Given the description of an element on the screen output the (x, y) to click on. 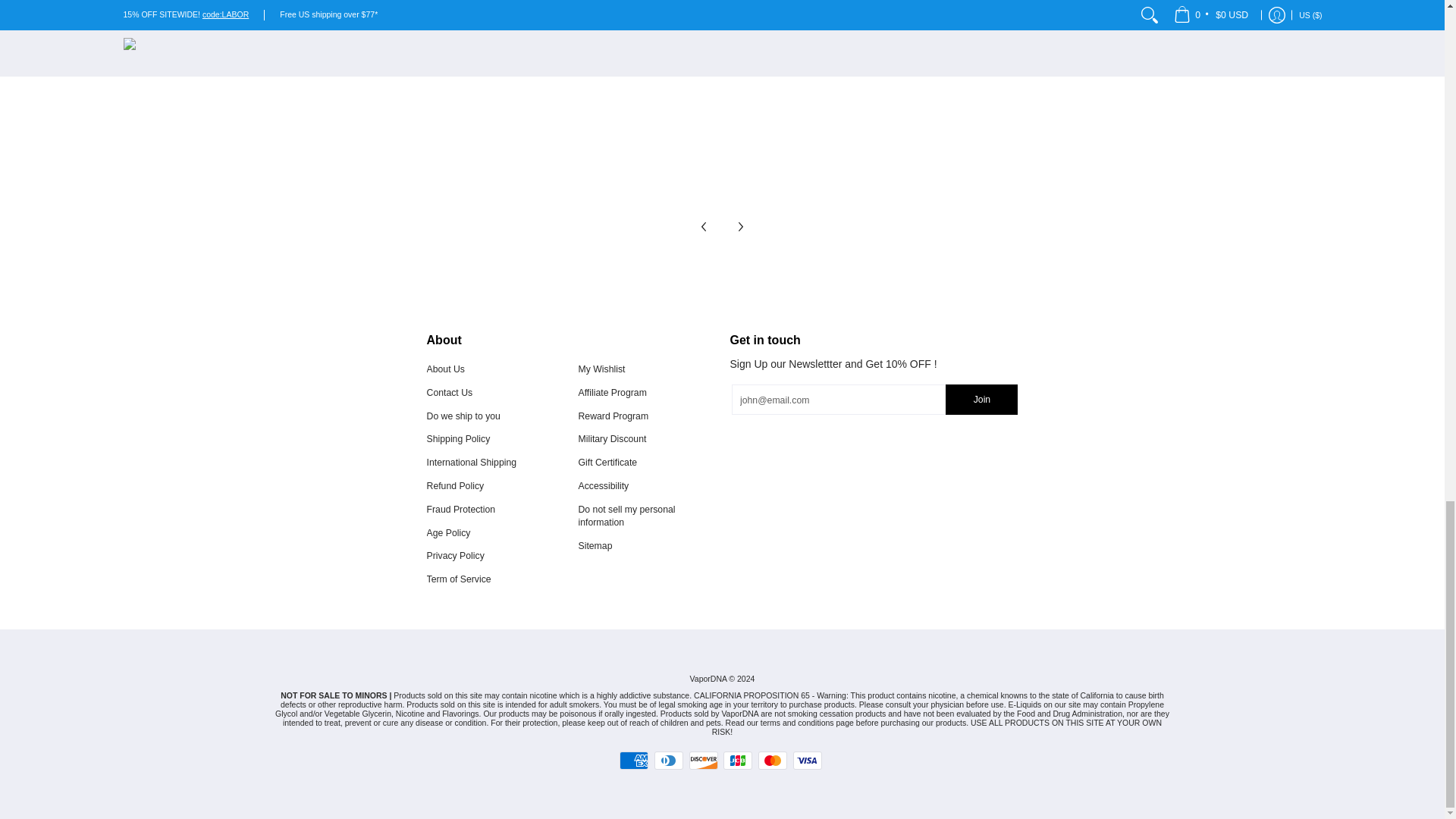
American Express (633, 760)
Visa (807, 760)
JCB (737, 760)
Mastercard (772, 760)
Discover (702, 760)
Diners Club (667, 760)
